Given the description of an element on the screen output the (x, y) to click on. 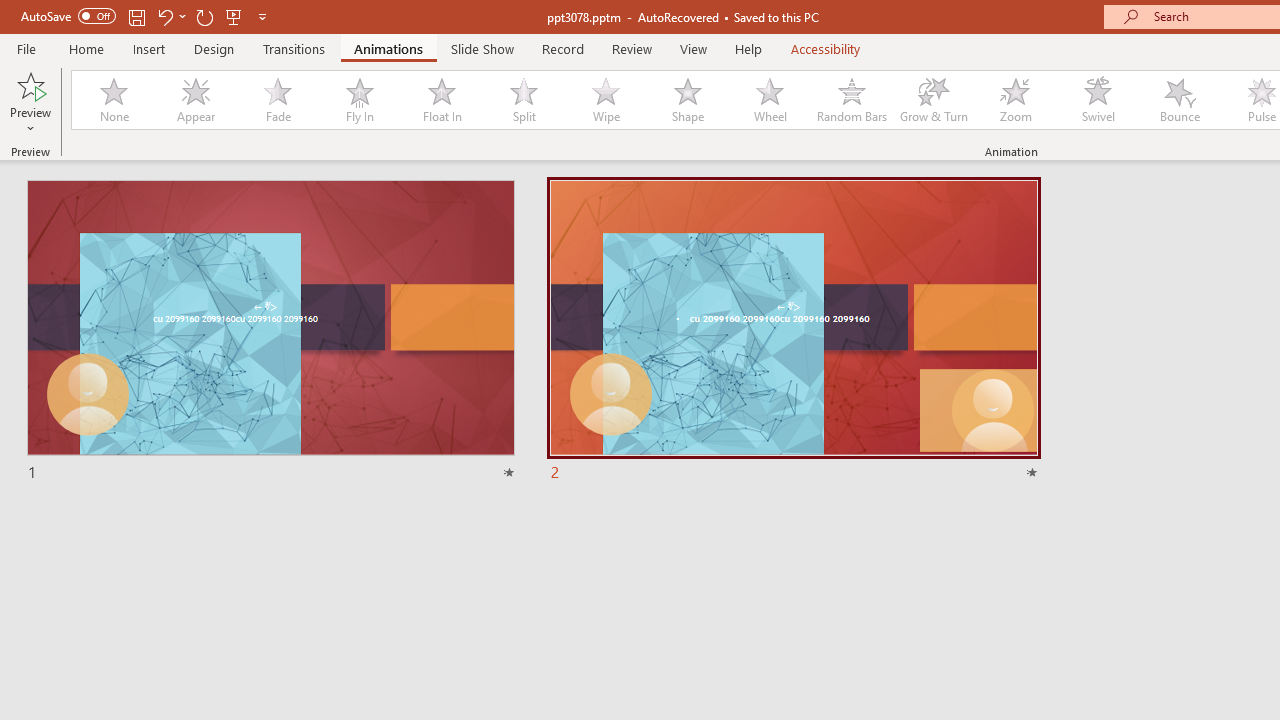
Appear (195, 100)
Random Bars (852, 100)
Shape (687, 100)
